Given the description of an element on the screen output the (x, y) to click on. 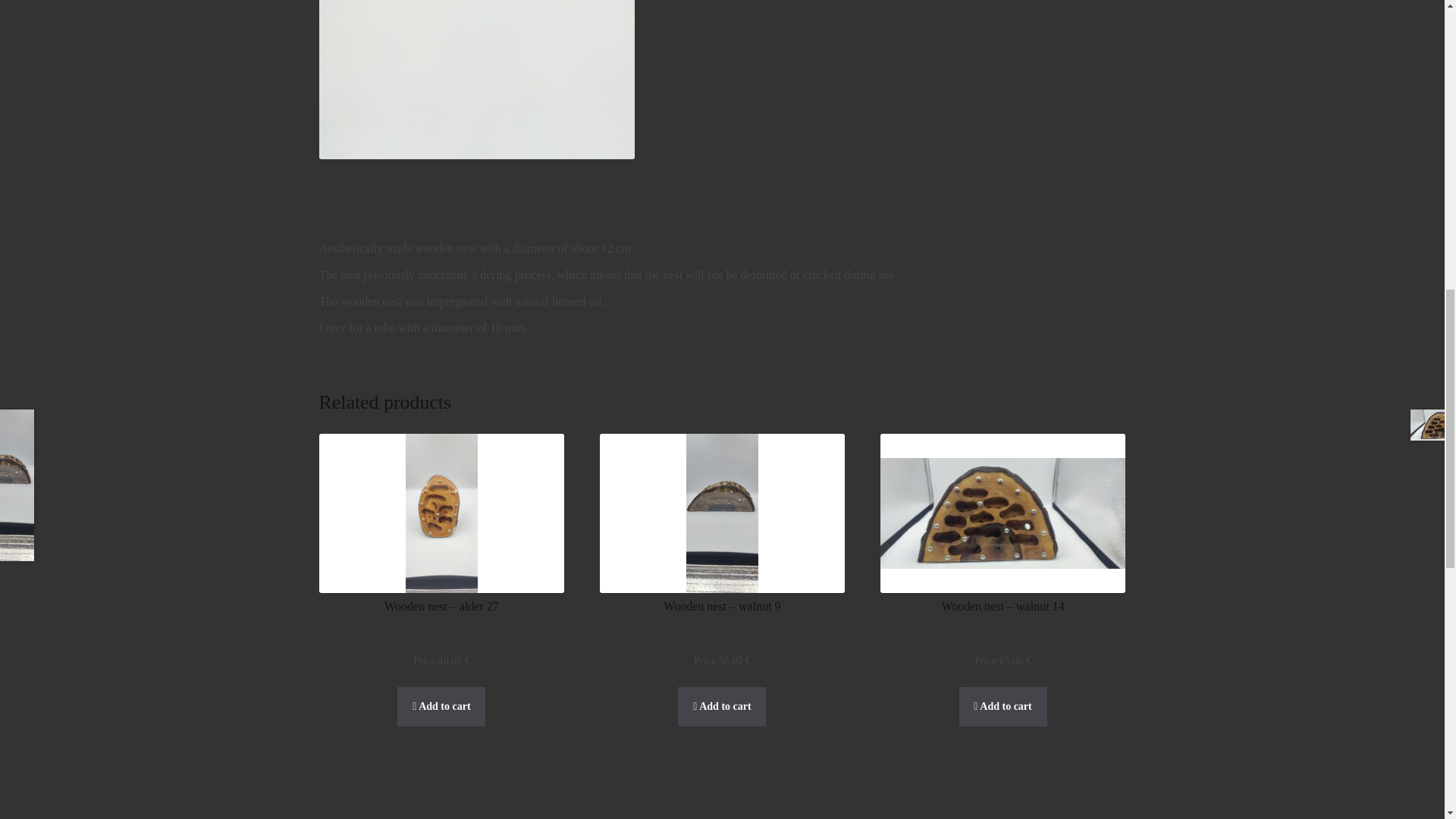
Add to cart (440, 706)
Add to cart (721, 706)
Add to cart (1002, 706)
